Given the description of an element on the screen output the (x, y) to click on. 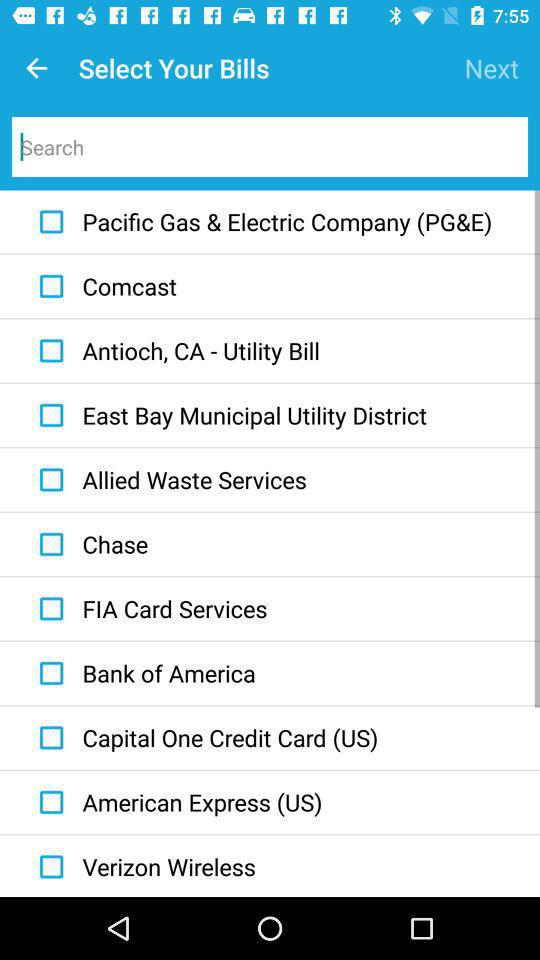
turn off icon next to the select your bills icon (36, 68)
